Given the description of an element on the screen output the (x, y) to click on. 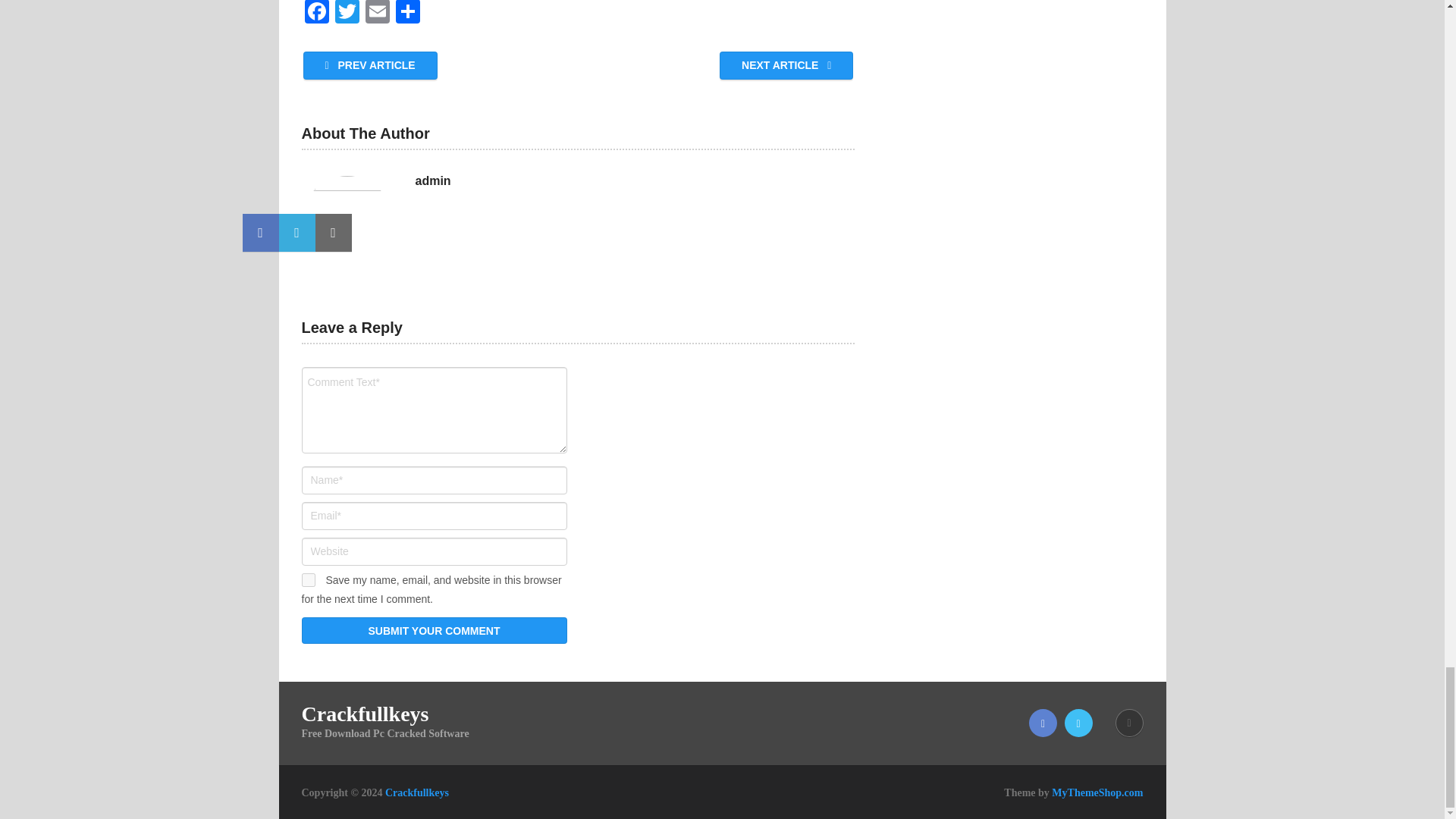
Submit Your Comment (434, 630)
Twitter (346, 13)
Facebook (316, 13)
Email (377, 13)
yes (308, 580)
PREV ARTICLE (370, 65)
